Given the description of an element on the screen output the (x, y) to click on. 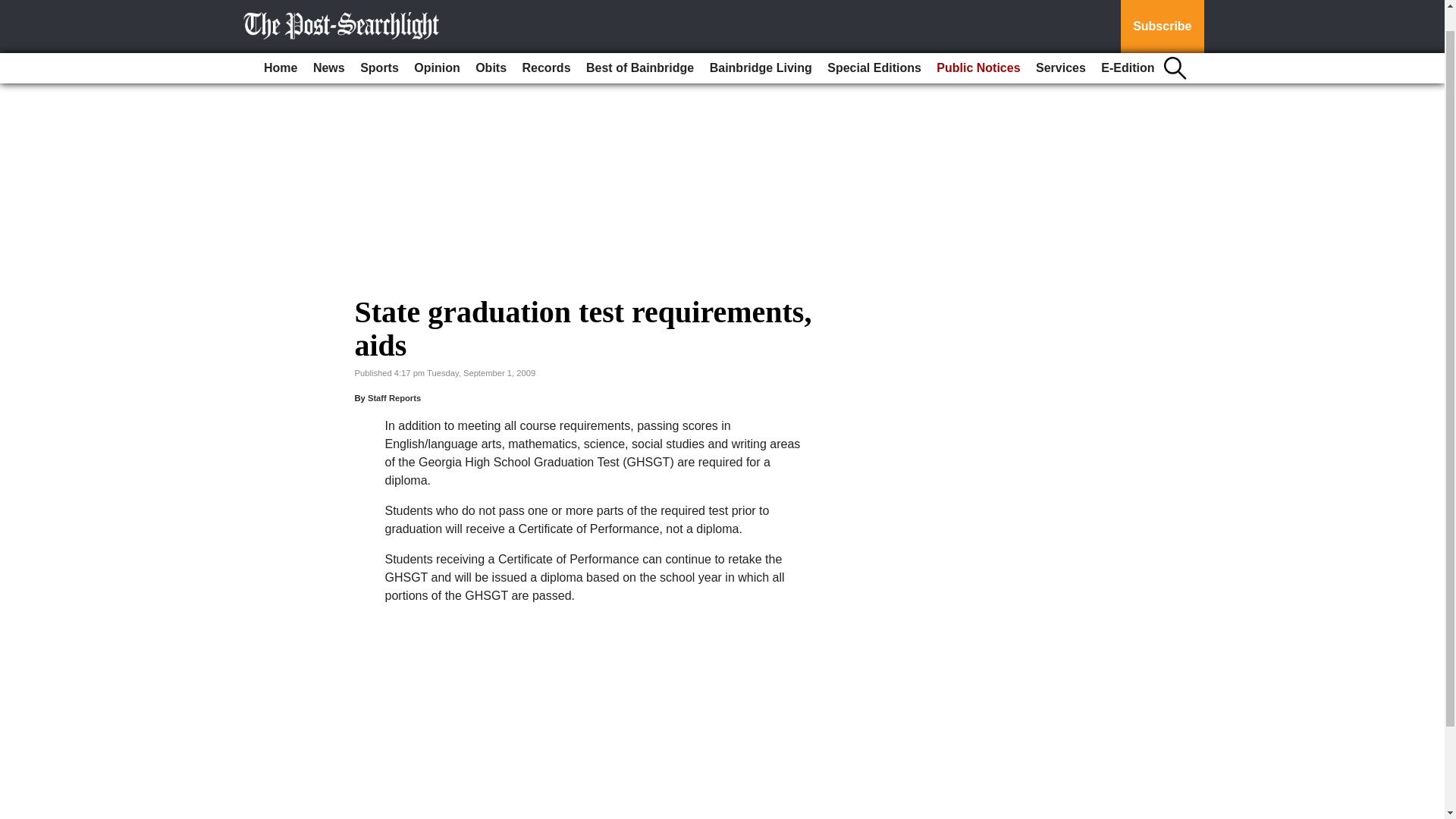
Bainbridge Living (760, 44)
Opinion (436, 44)
Special Editions (874, 44)
Sports (378, 44)
E-Edition (1127, 44)
News (328, 44)
Obits (490, 44)
Services (1060, 44)
Records (546, 44)
Subscribe (1162, 14)
